Given the description of an element on the screen output the (x, y) to click on. 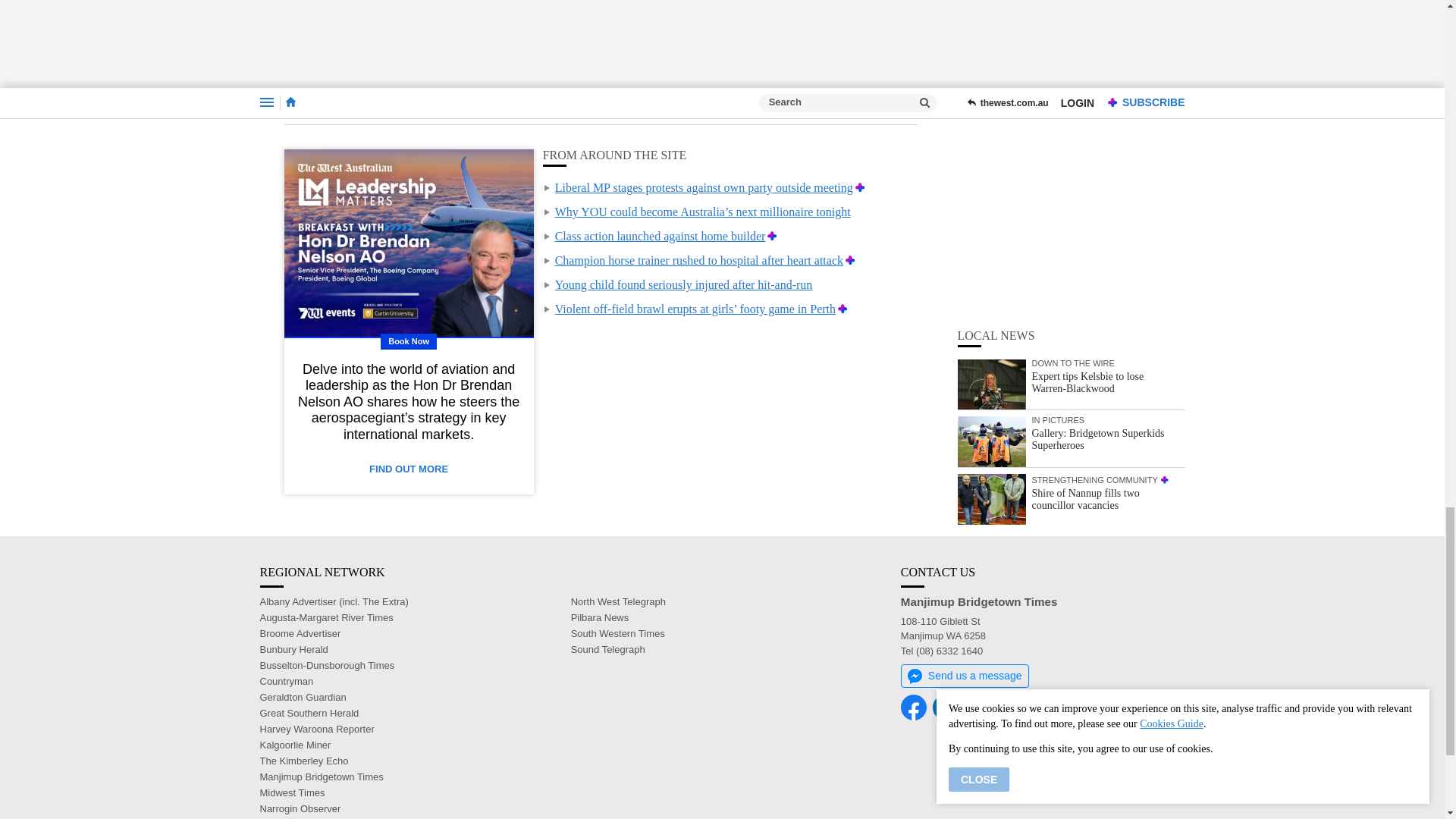
Premium (859, 187)
Premium (771, 236)
